Given the description of an element on the screen output the (x, y) to click on. 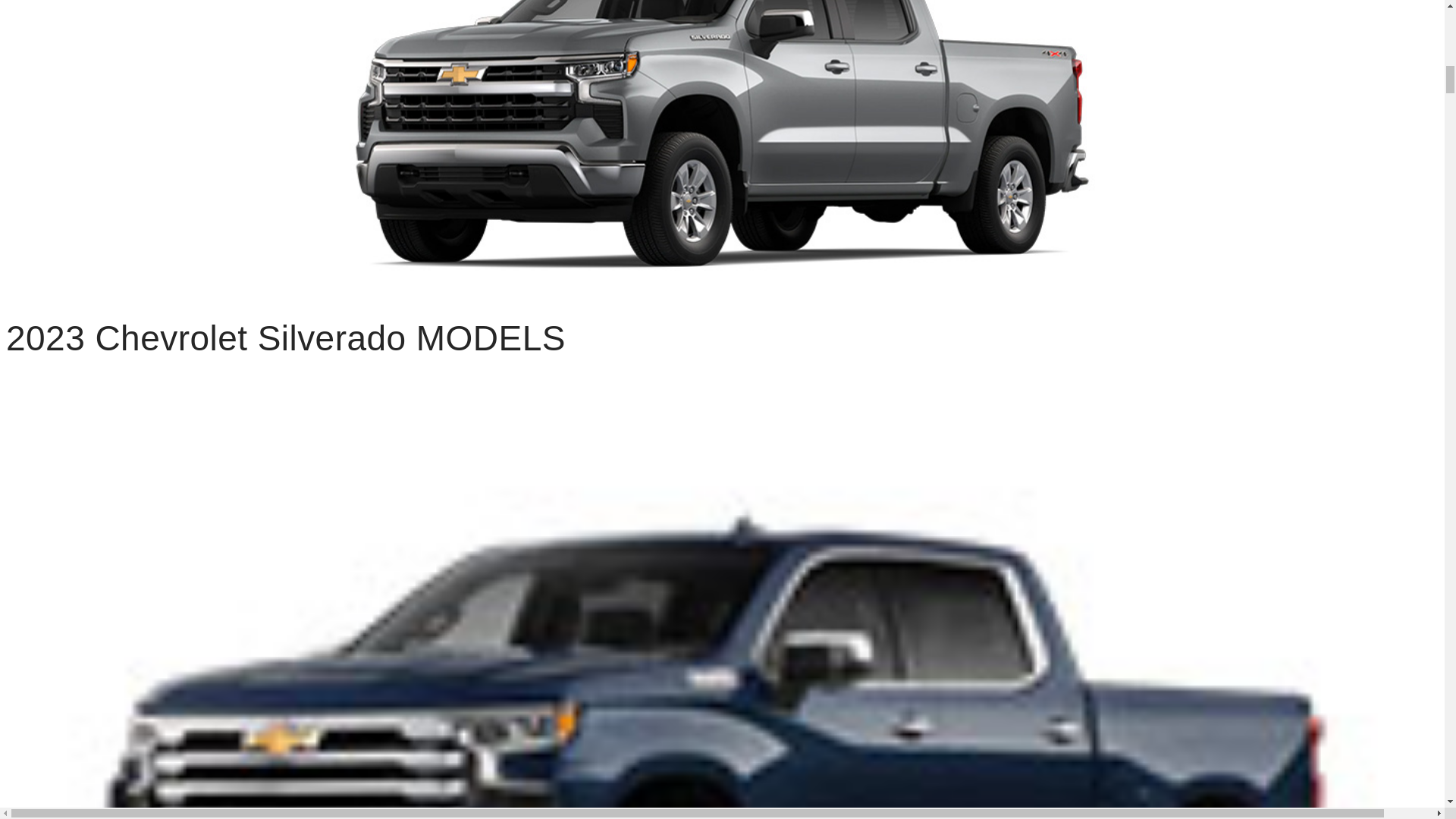
2024 MALIBU (155, 286)
2024 BLAZER EV (155, 591)
2024 EQUINOX (155, 743)
2024 BLAZER (155, 438)
2024 CORVETTE Z06 (155, 134)
2024 CORVETTE E-RAY (155, 25)
